Given the description of an element on the screen output the (x, y) to click on. 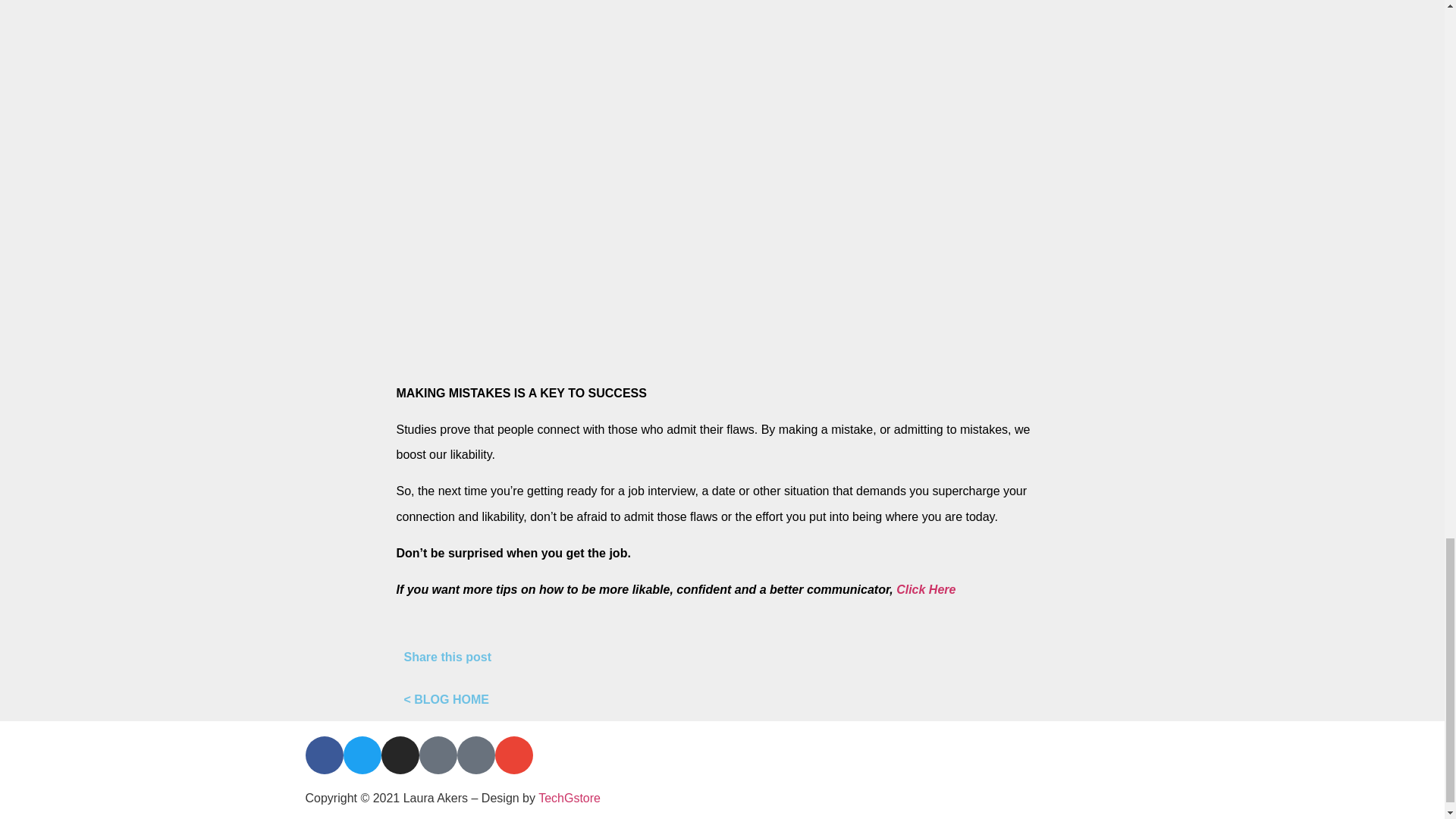
TechGstore (568, 797)
Click Here (925, 589)
